Given the description of an element on the screen output the (x, y) to click on. 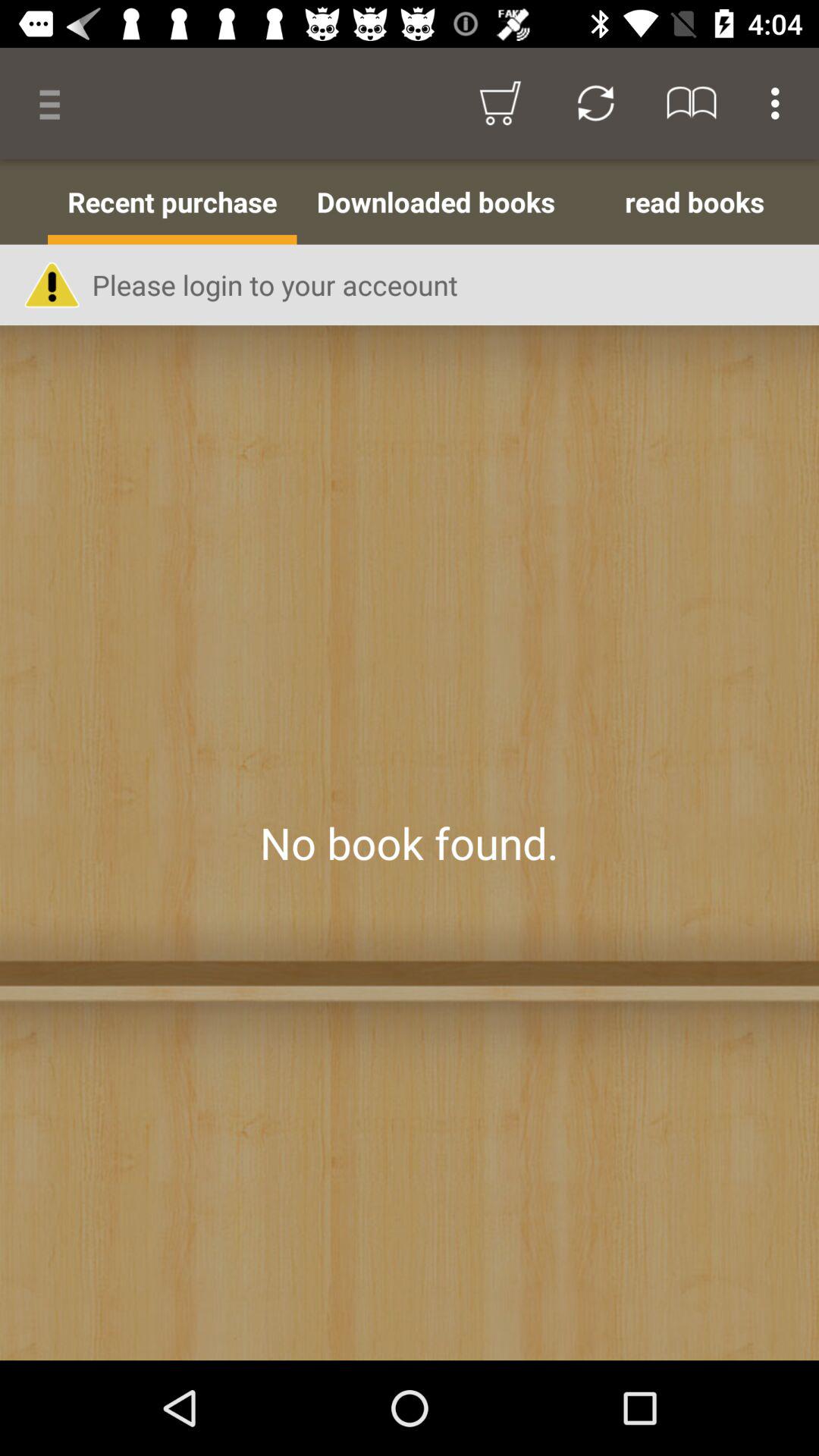
choose the item above all books icon (55, 103)
